Given the description of an element on the screen output the (x, y) to click on. 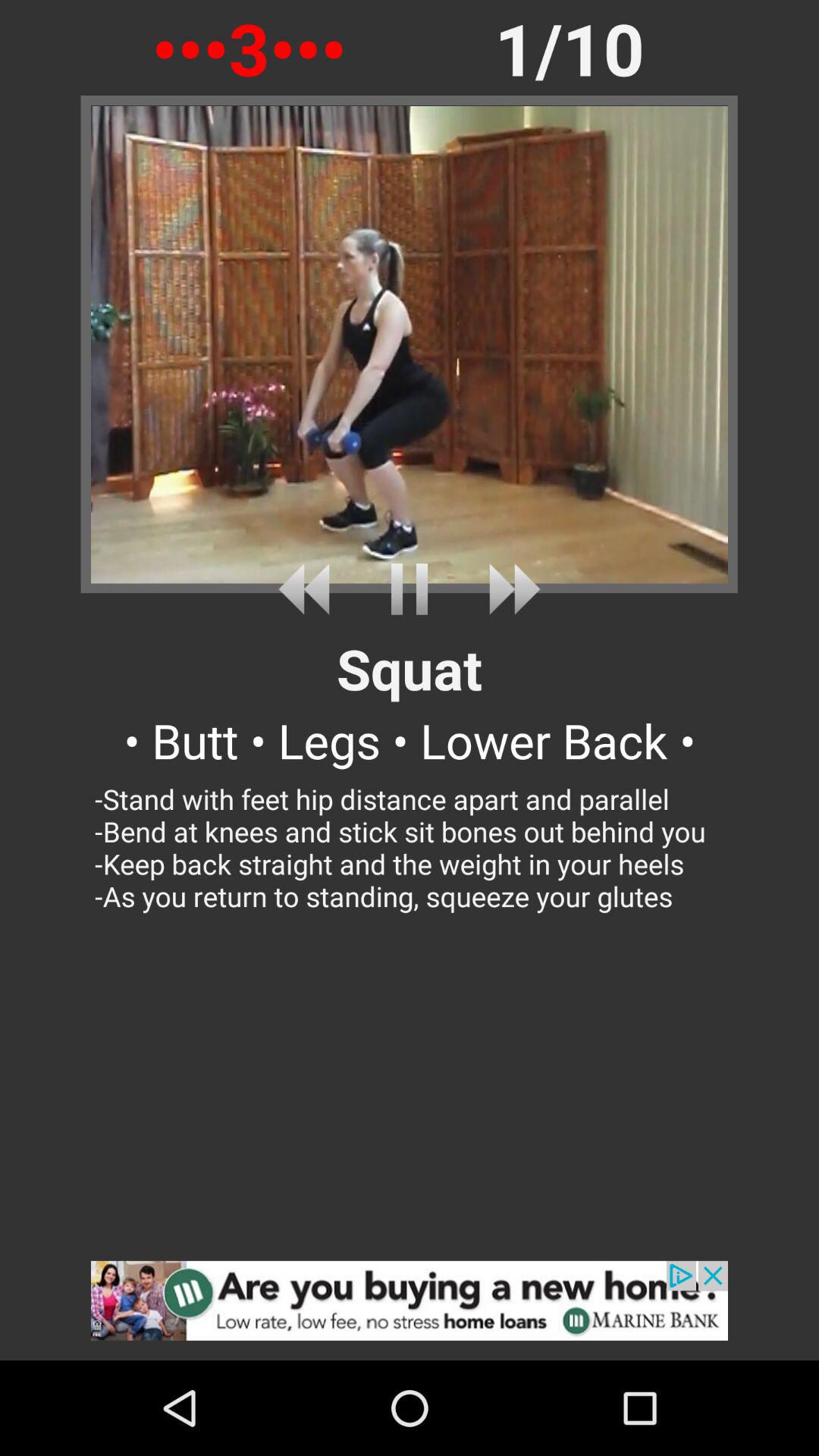
rewind (309, 589)
